Given the description of an element on the screen output the (x, y) to click on. 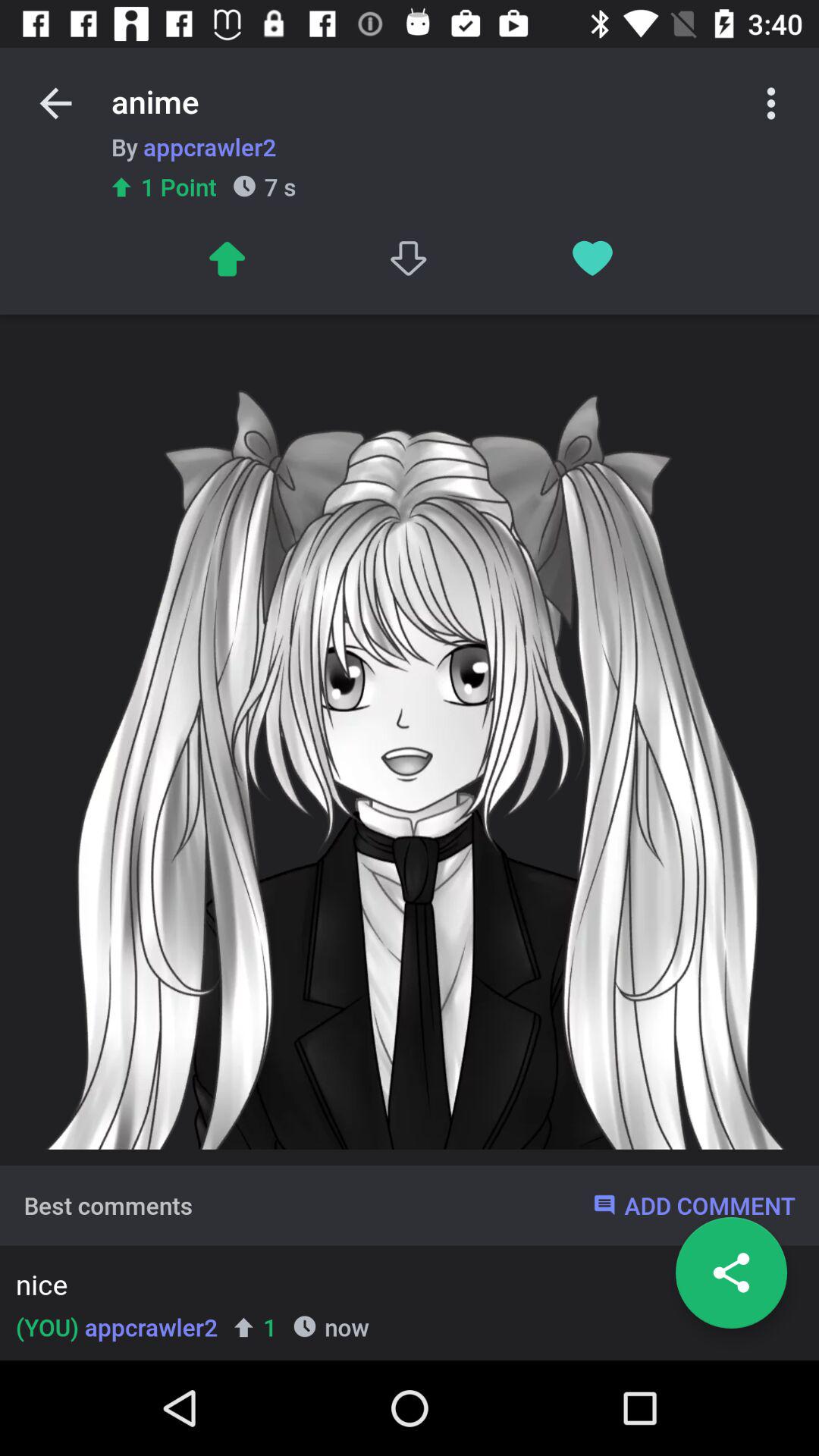
go to options (771, 103)
